Given the description of an element on the screen output the (x, y) to click on. 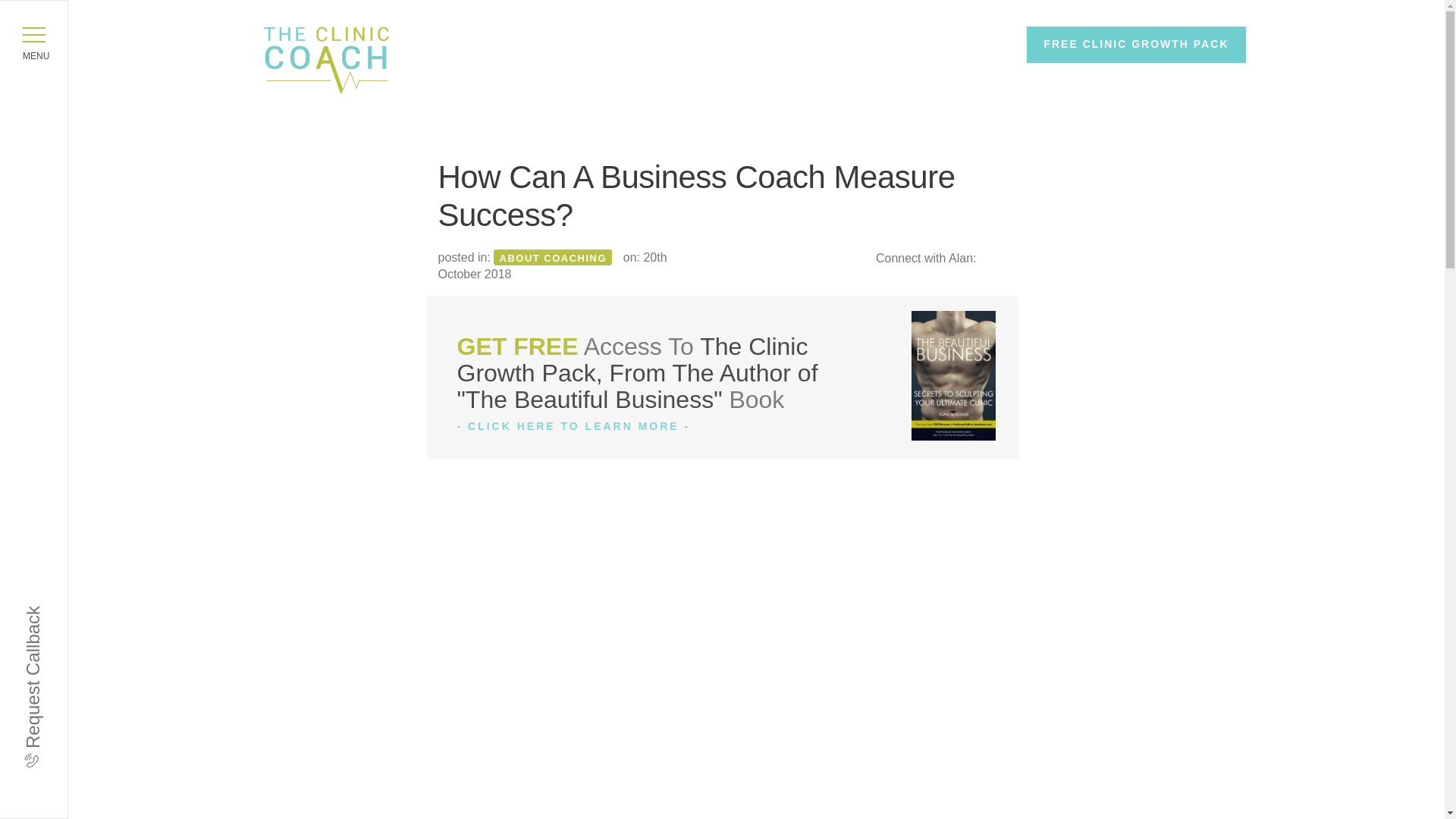
ABOUT COACHING (553, 257)
Request Callback (94, 616)
- CLICK HERE TO LEARN MORE - (573, 426)
FREE CLINIC GROWTH PACK (1135, 44)
MENU (34, 34)
